Given the description of an element on the screen output the (x, y) to click on. 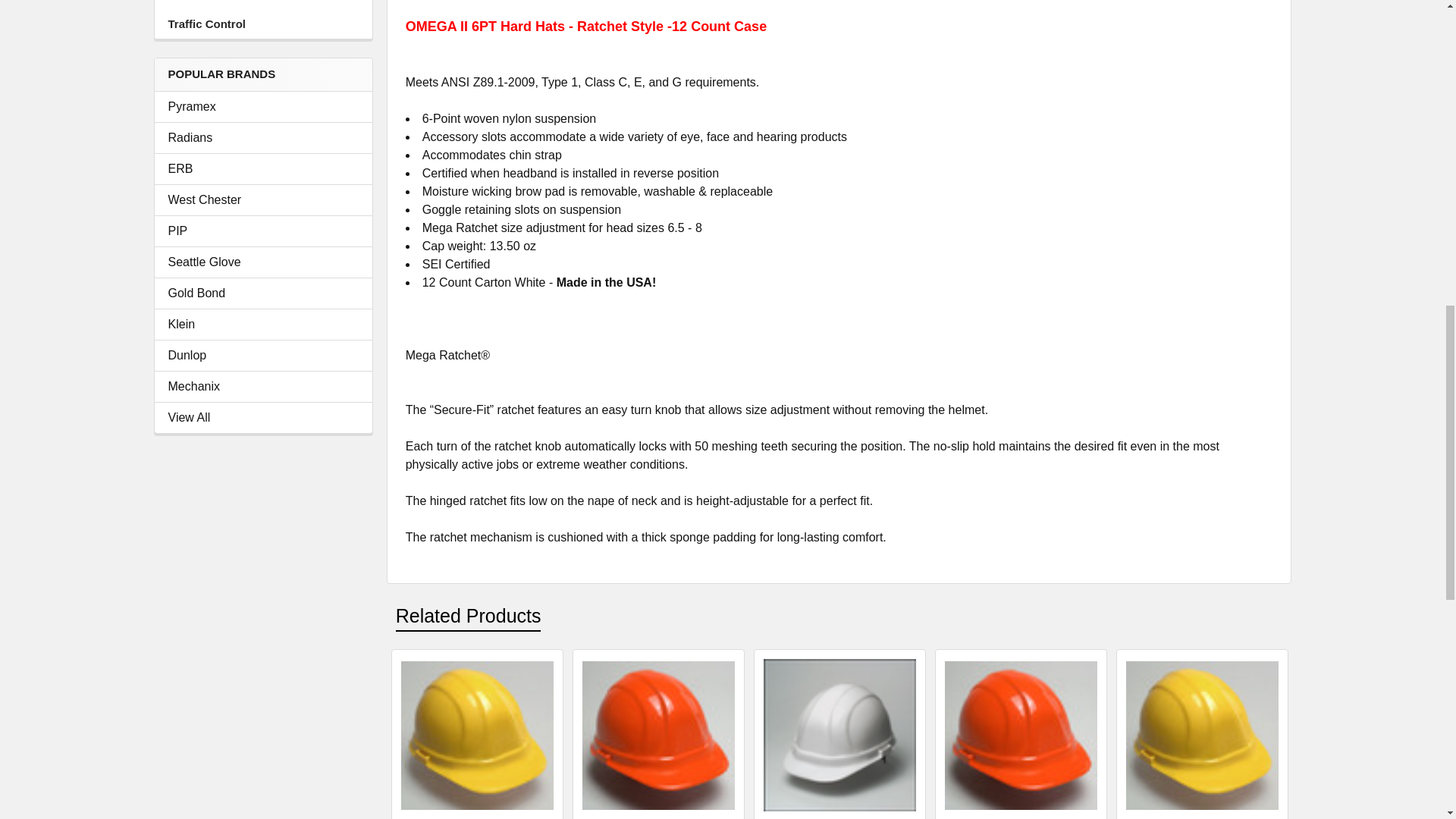
Dunlop (263, 355)
Klein (263, 324)
Seattle Glove (263, 262)
West Chester (263, 199)
PIP (263, 230)
Pyramex (263, 106)
Gold Bond (263, 293)
ERB (263, 168)
Mechanix (263, 386)
Radians (263, 137)
